Given the description of an element on the screen output the (x, y) to click on. 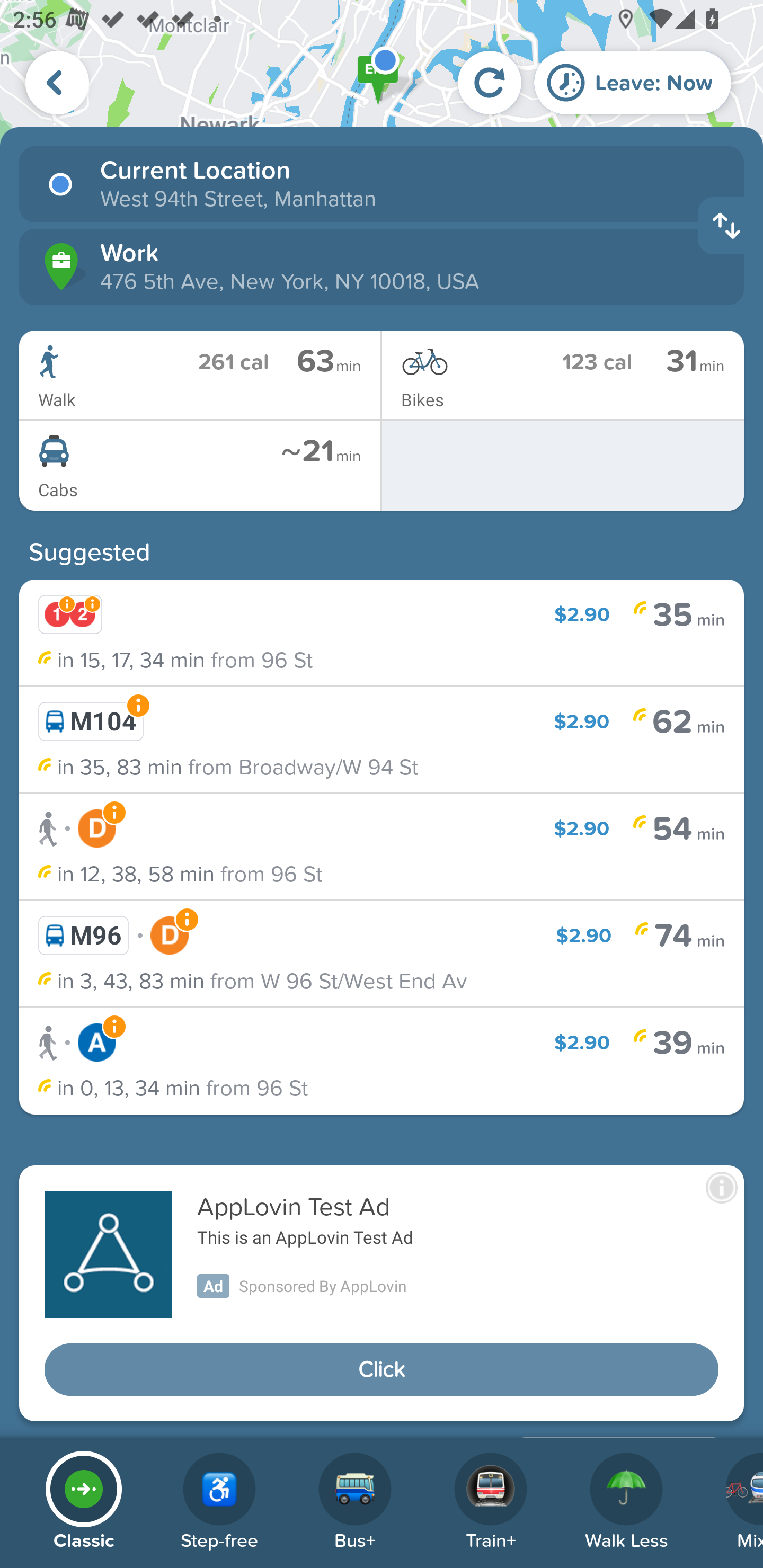
Current Location West 94th Street, Manhattan (381, 183)
